Given the description of an element on the screen output the (x, y) to click on. 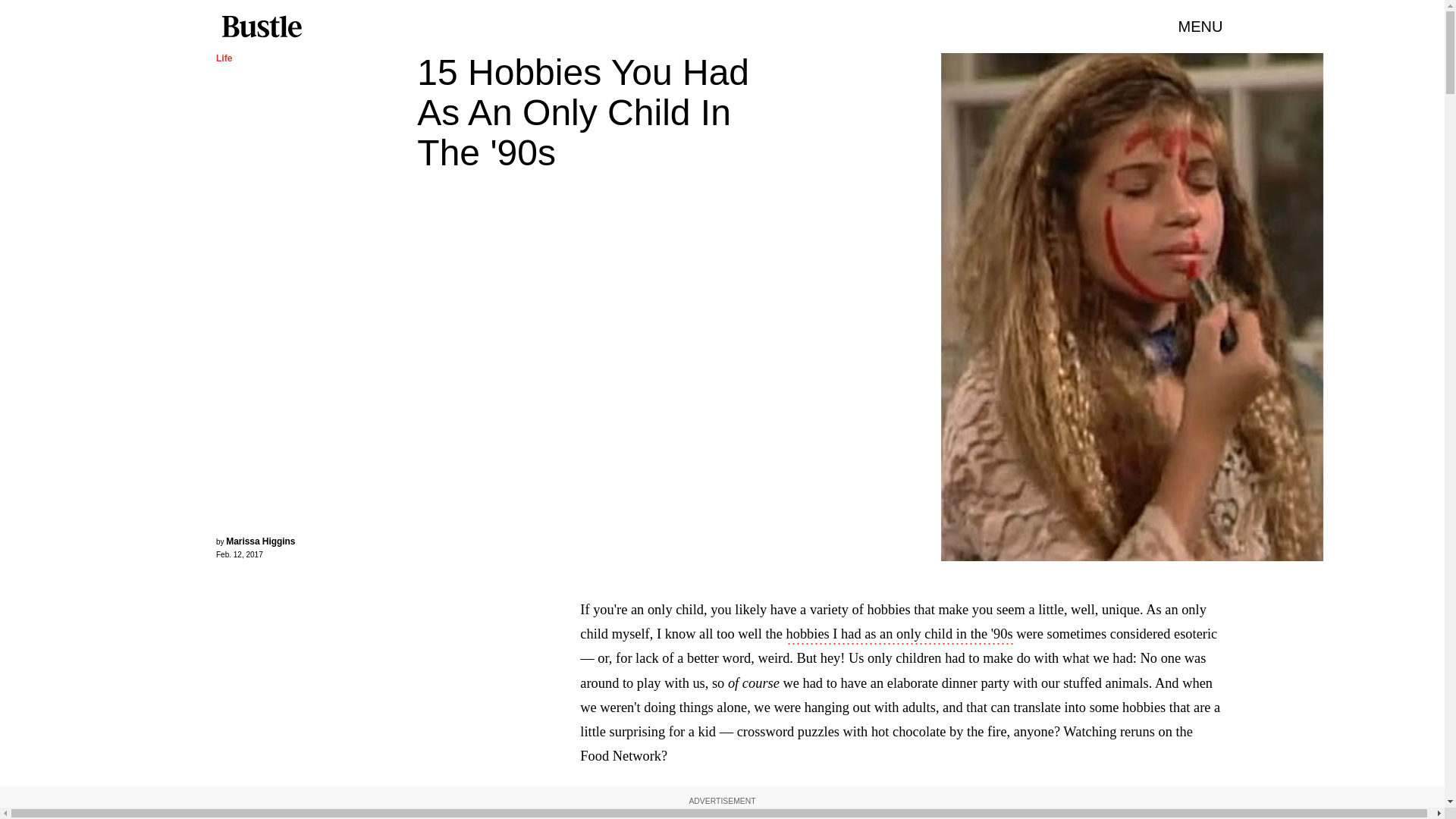
hobbies I had as an only child in the '90s (899, 635)
Bustle (261, 26)
Marissa Higgins (260, 541)
